Given the description of an element on the screen output the (x, y) to click on. 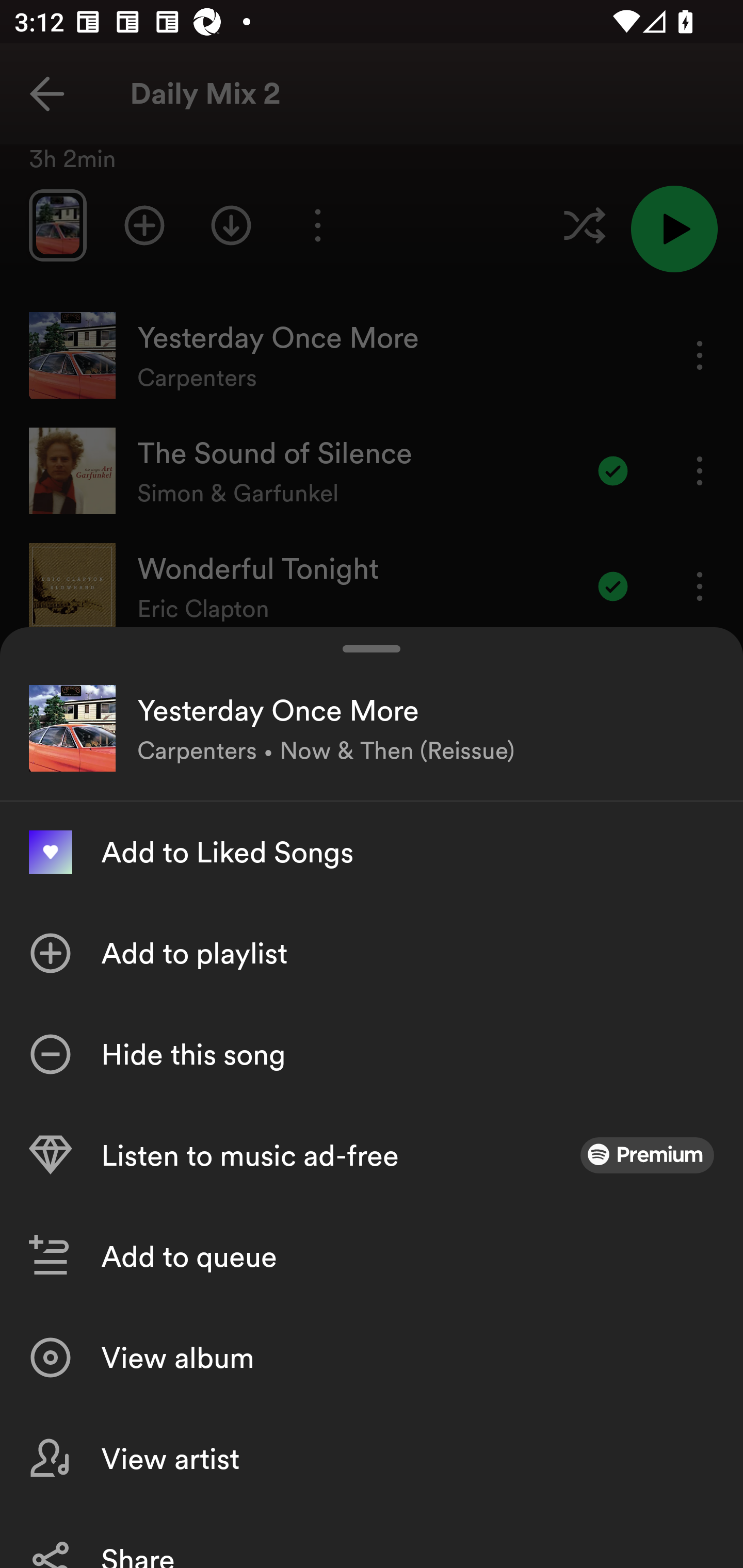
Add to Liked Songs (371, 852)
Add to playlist (371, 953)
Hide this song (371, 1054)
Listen to music ad-free (371, 1155)
Add to queue (371, 1256)
View album (371, 1357)
View artist (371, 1458)
Share (371, 1538)
